Given the description of an element on the screen output the (x, y) to click on. 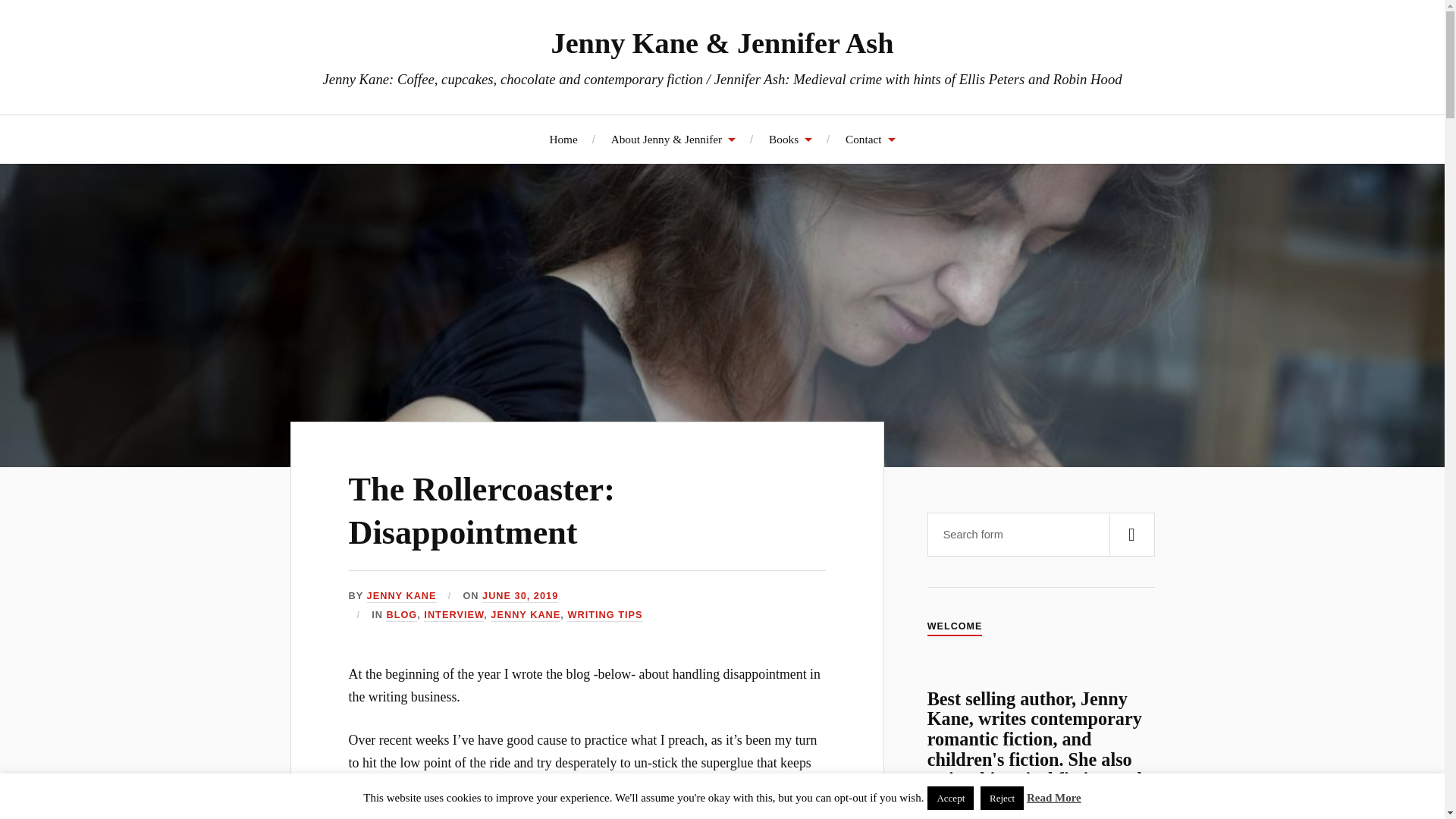
Books (790, 138)
Contact (870, 138)
The Rollercoaster: Disappointment (481, 510)
WRITING TIPS (604, 615)
INTERVIEW (453, 615)
BLOG (400, 615)
JUNE 30, 2019 (519, 595)
JENNY KANE (525, 615)
Posts by Jenny Kane (401, 595)
JENNY KANE (401, 595)
